Given the description of an element on the screen output the (x, y) to click on. 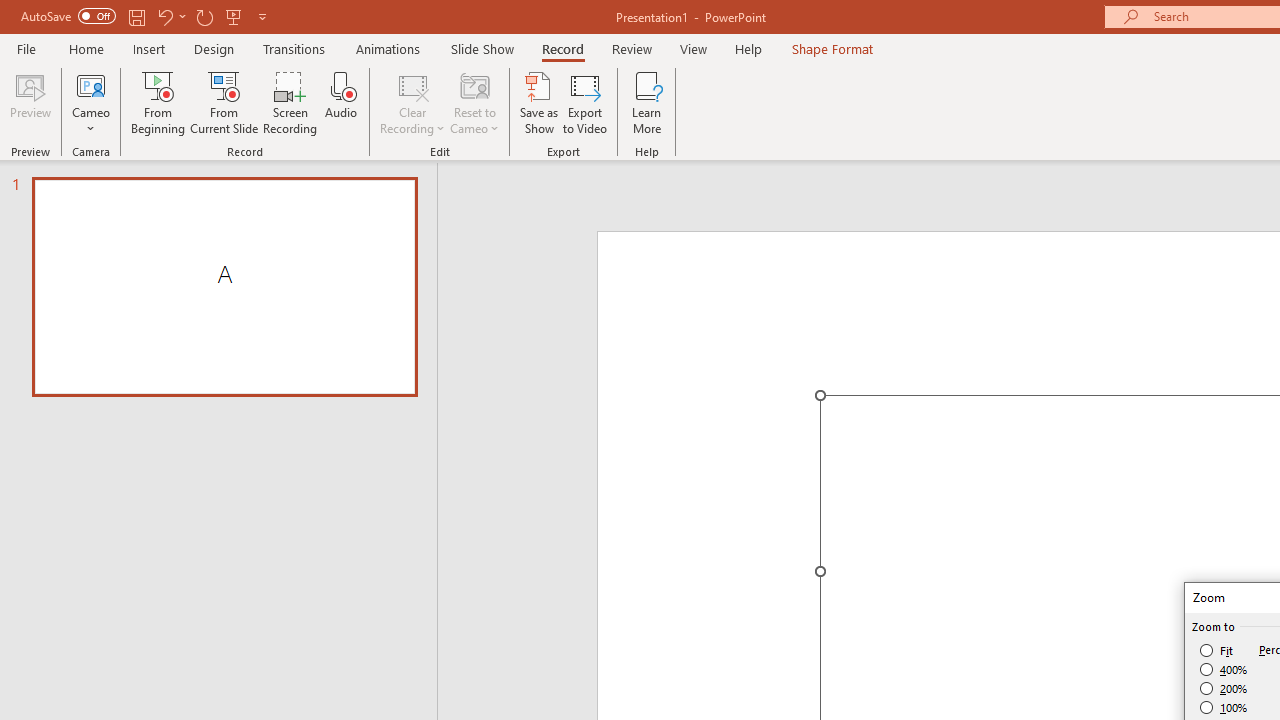
From Current Slide... (224, 102)
200% (1224, 688)
